Given the description of an element on the screen output the (x, y) to click on. 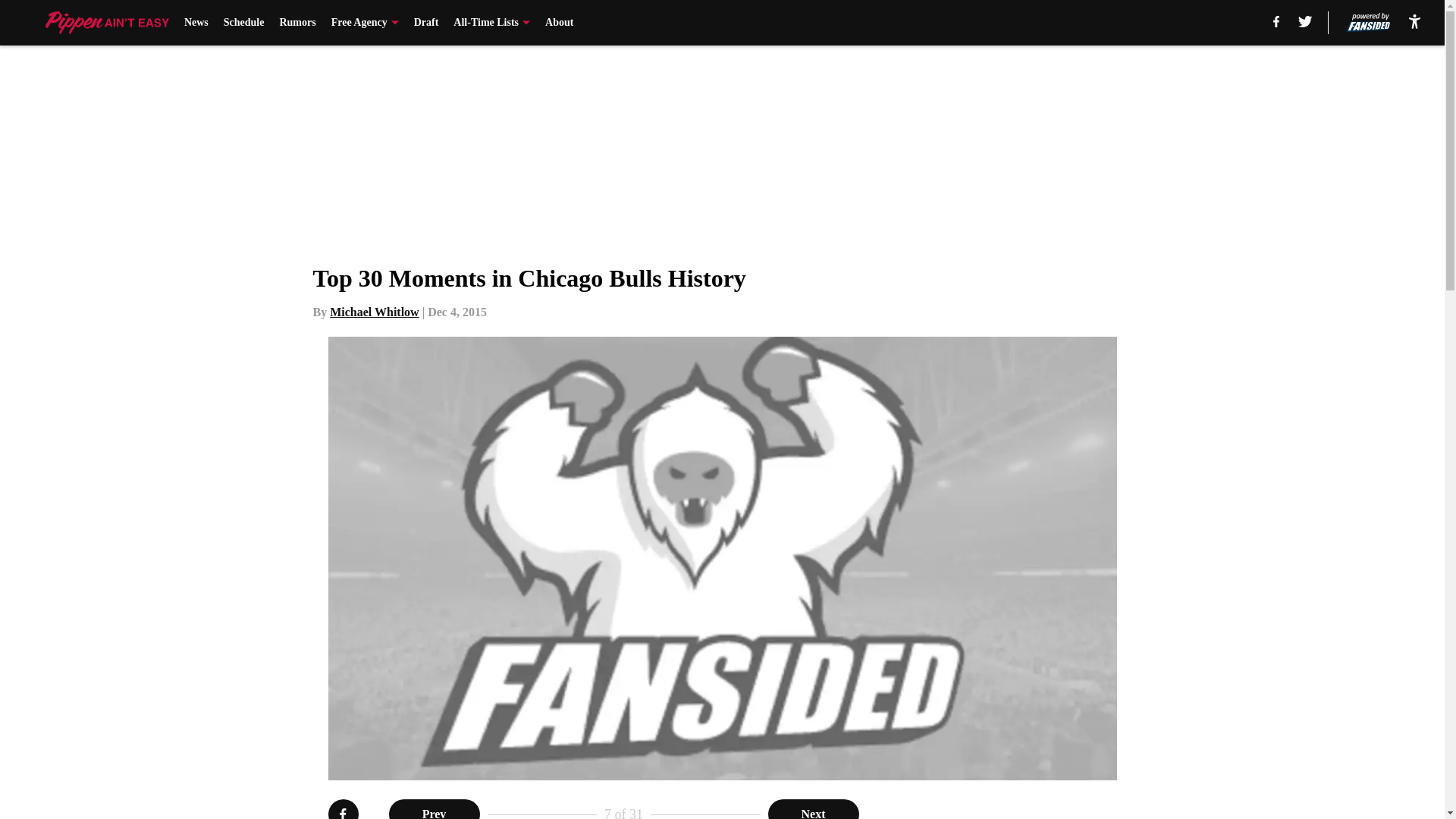
Next (813, 809)
Rumors (297, 22)
Michael Whitlow (374, 311)
News (196, 22)
Schedule (244, 22)
About (558, 22)
Prev (433, 809)
Draft (426, 22)
Free Agency (364, 22)
All-Time Lists (490, 22)
